Given the description of an element on the screen output the (x, y) to click on. 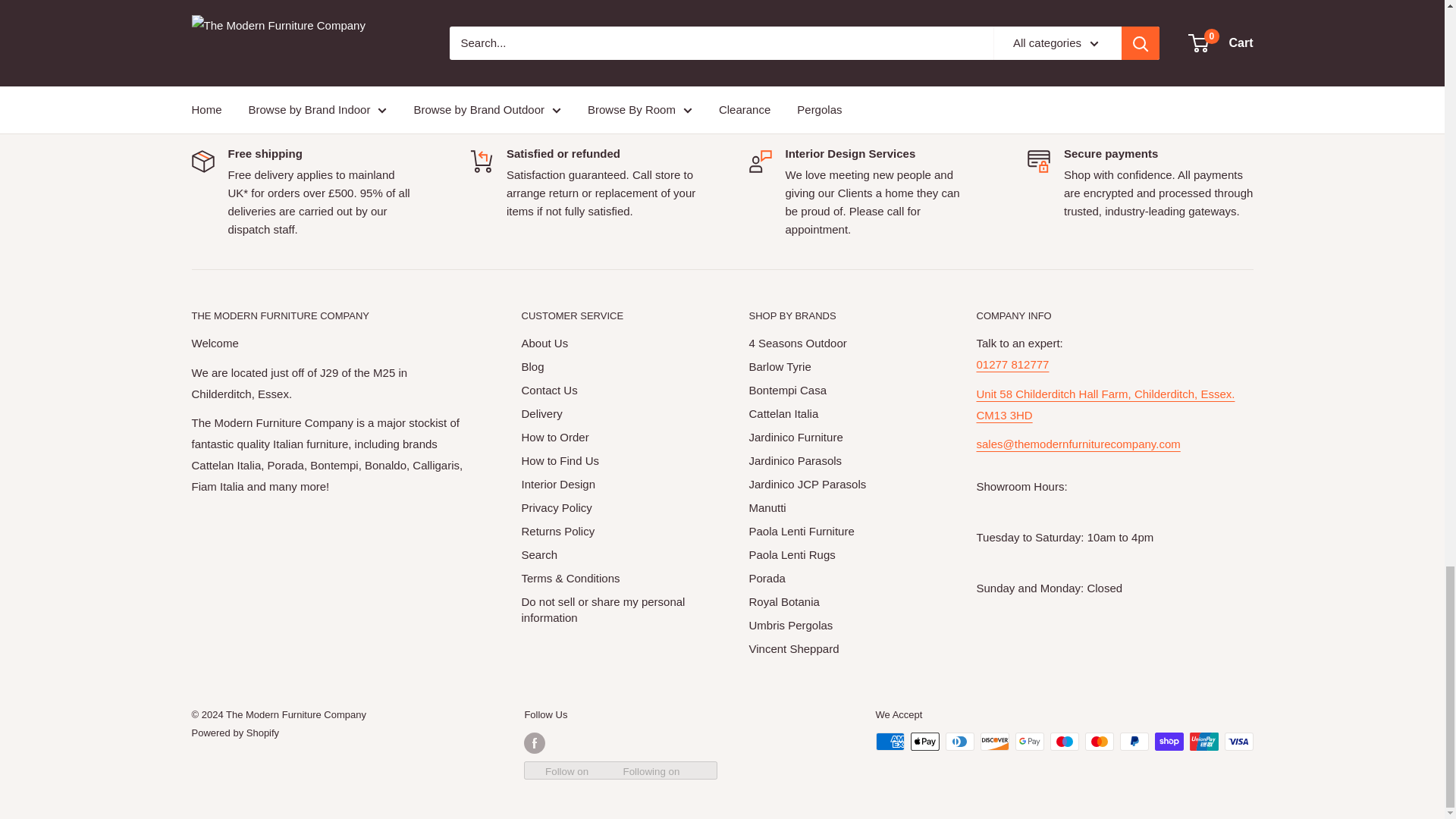
Email Us (1078, 454)
Location Map (1105, 404)
